Given the description of an element on the screen output the (x, y) to click on. 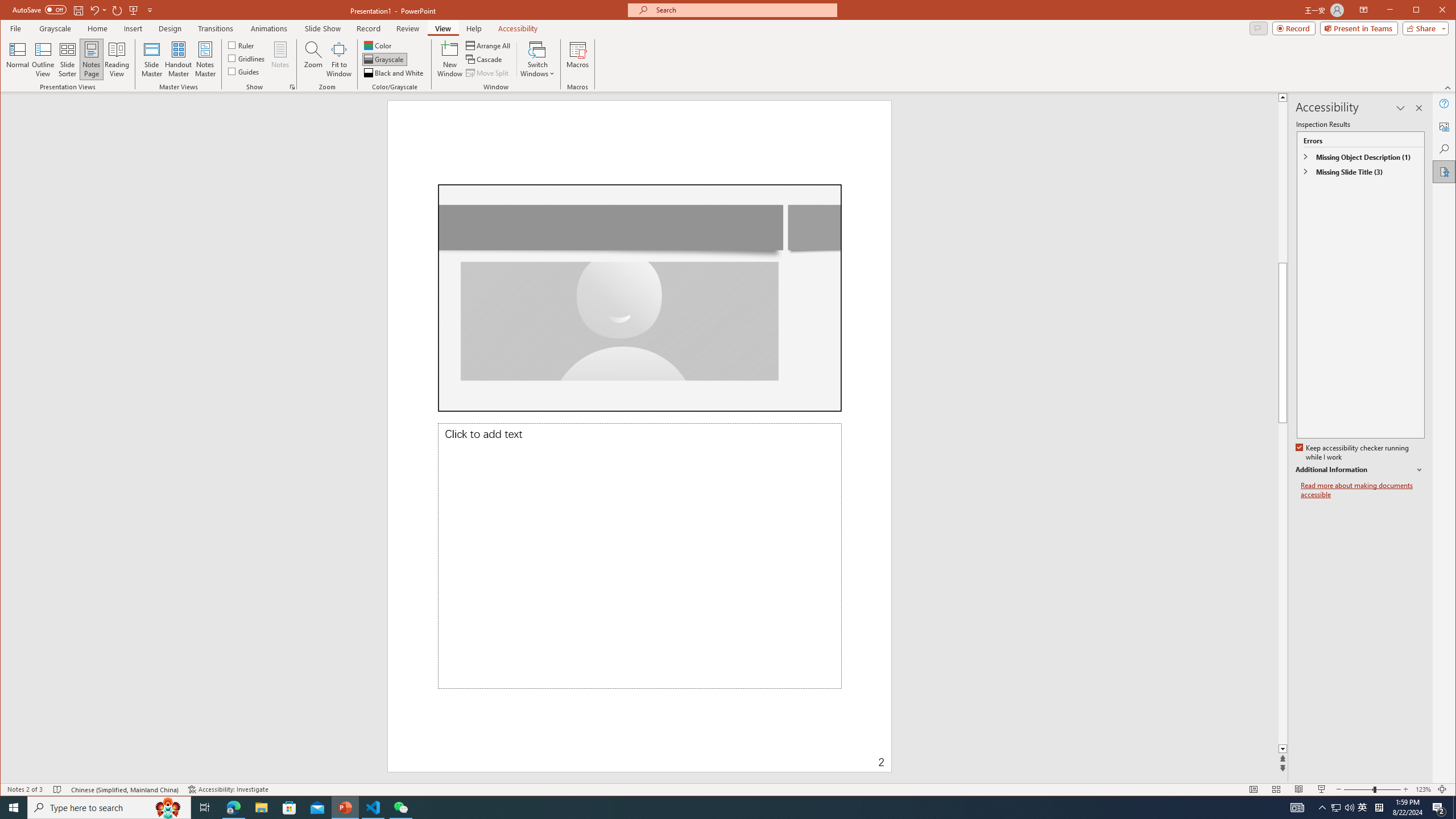
User Promoted Notification Area (1342, 807)
Start (13, 807)
Notes (279, 59)
Handout Master (178, 59)
Visual Studio Code - 1 running window (373, 807)
Show desktop (1454, 807)
Page down (1427, 583)
WeChat - 1 running window (400, 807)
Macros (576, 59)
Keep accessibility checker running while I work (1352, 452)
Black and White (394, 72)
